Given the description of an element on the screen output the (x, y) to click on. 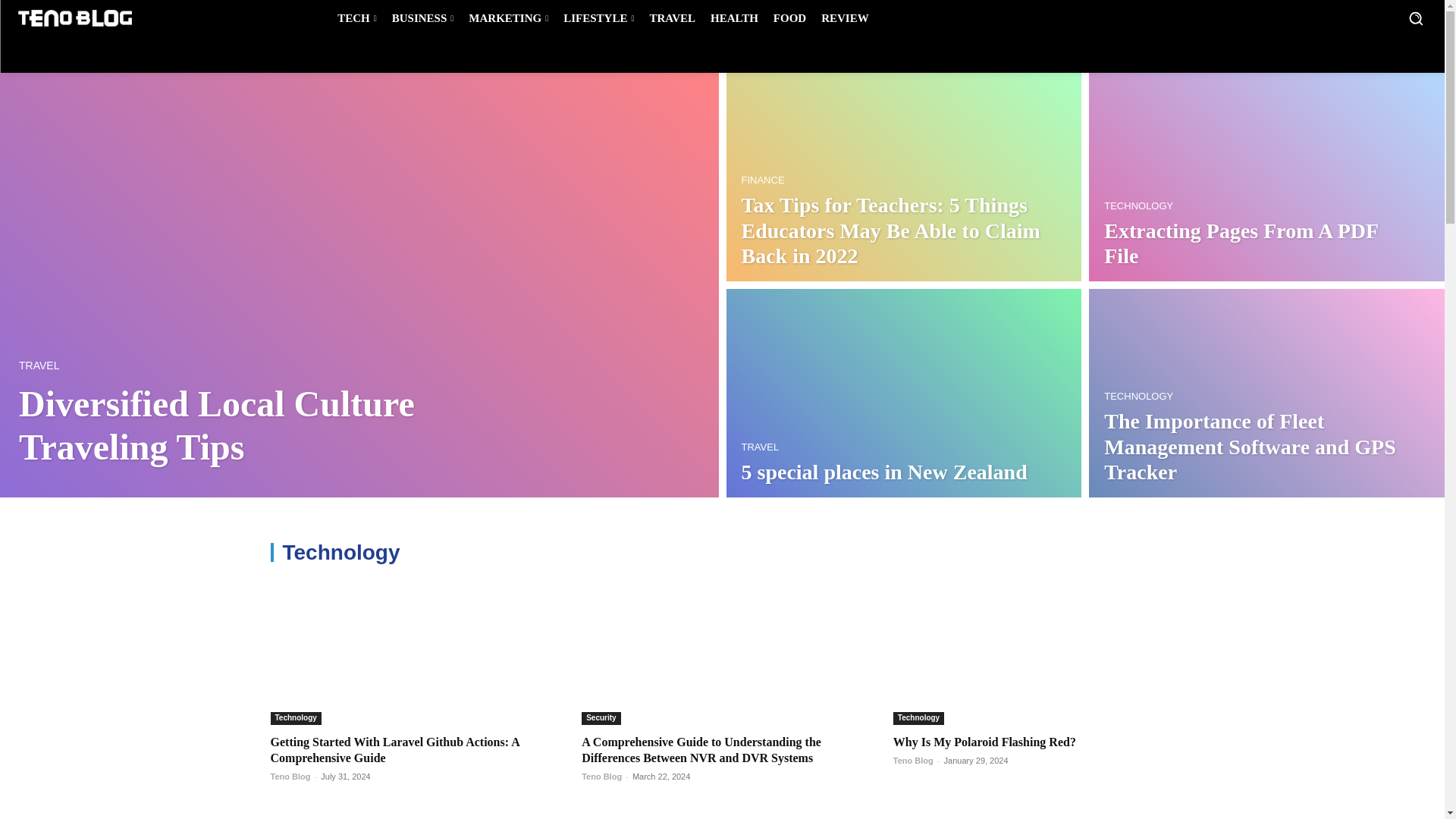
TECH (357, 18)
TenoBlog (74, 18)
Diversified Local Culture Traveling Tips (216, 425)
